Given the description of an element on the screen output the (x, y) to click on. 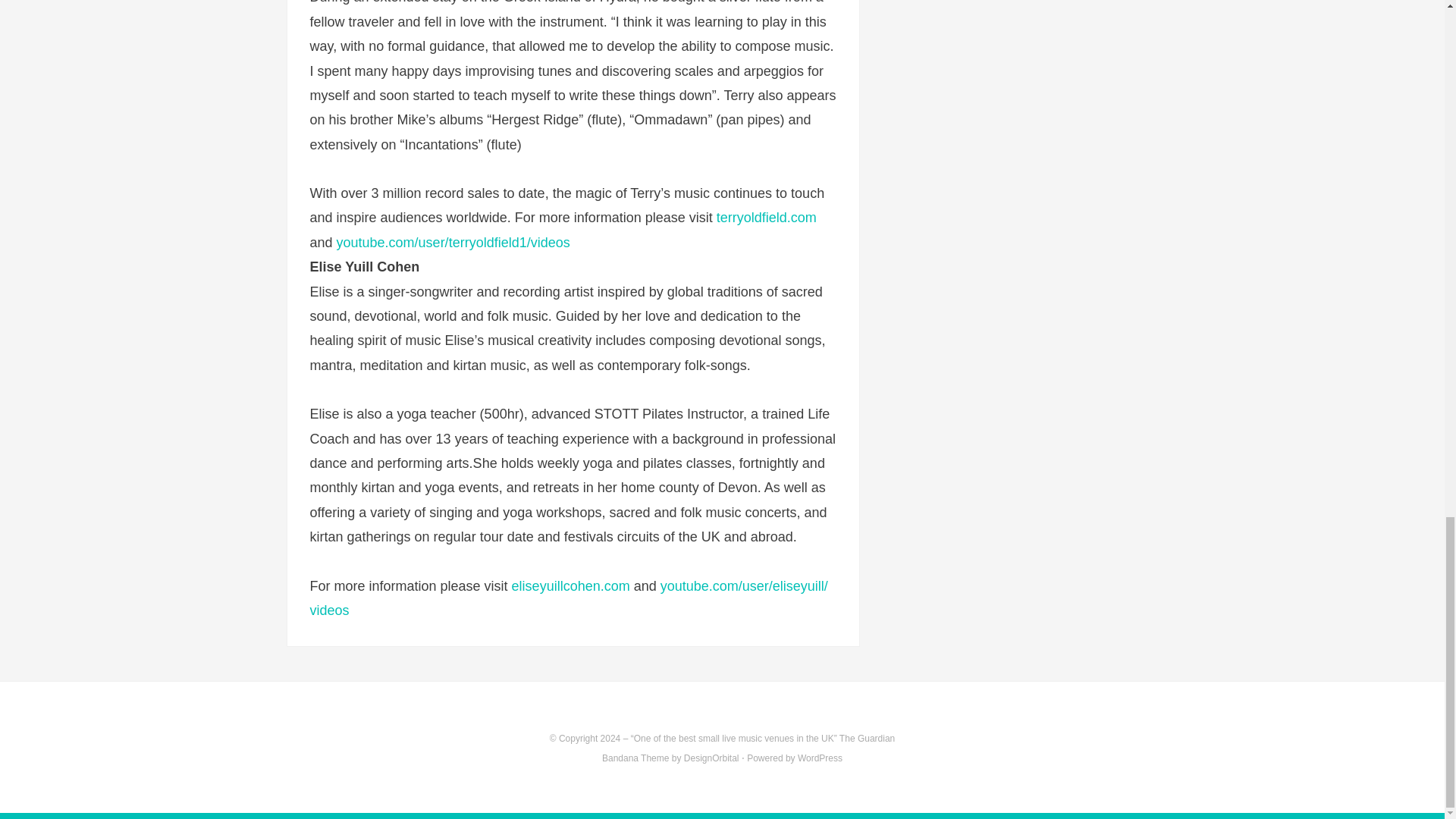
eliseyuillcohen.com (571, 585)
DesignOrbital (711, 757)
terryoldfield.com (766, 217)
WordPress (820, 757)
DesignOrbital (711, 757)
WordPress (820, 757)
